Given the description of an element on the screen output the (x, y) to click on. 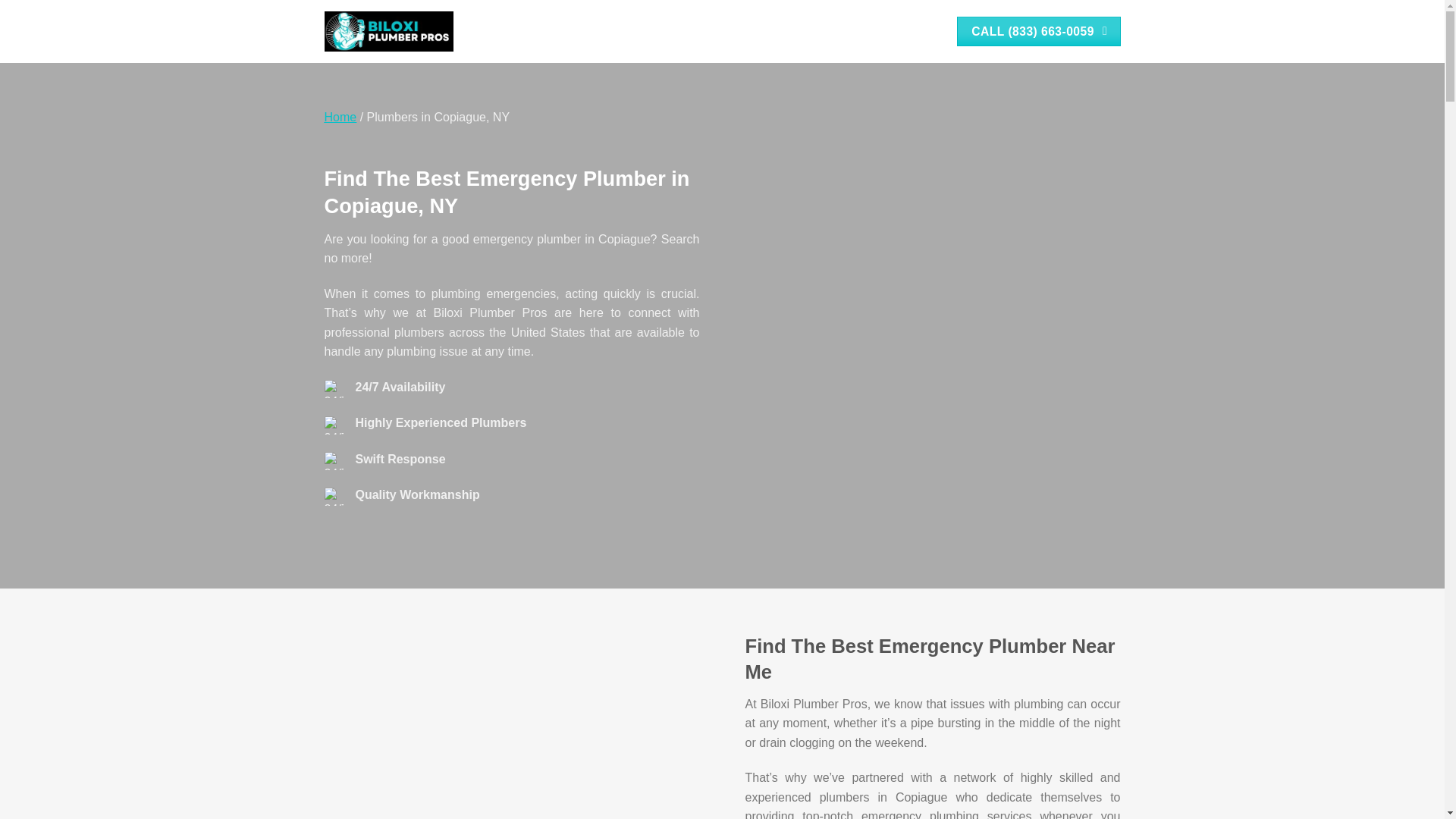
Biloxi Plumber Pros - Plumbing Services (388, 31)
Best Emergency Plumbers in USA (340, 116)
ABOUT US (792, 31)
HOME (740, 31)
CONTACT US (901, 31)
Home (340, 116)
BLOG (844, 31)
